Given the description of an element on the screen output the (x, y) to click on. 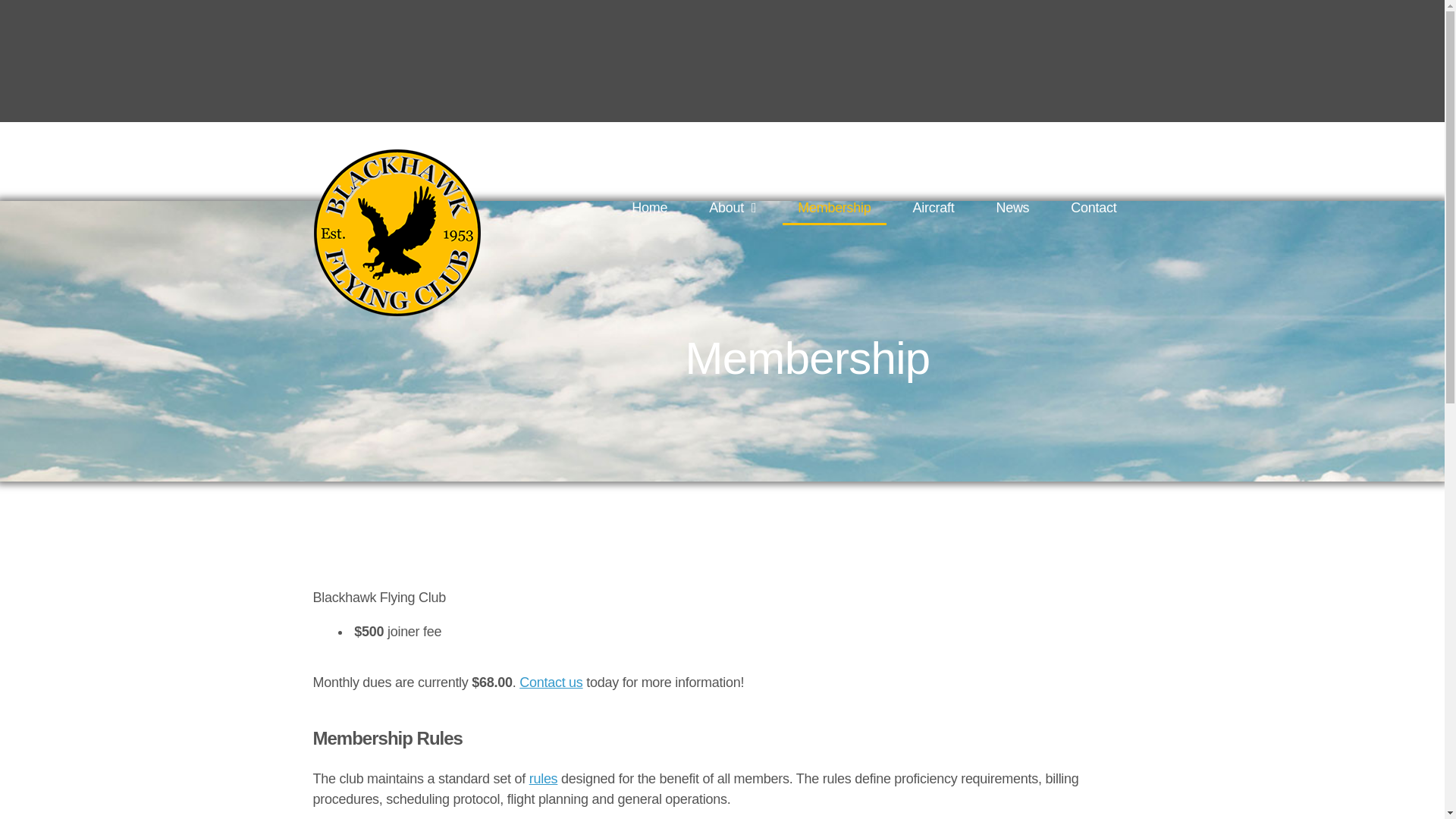
rules (543, 778)
Contact us (550, 682)
Aircraft (933, 207)
News (1011, 207)
Home (648, 207)
Membership (834, 207)
About (732, 207)
Contact (1093, 207)
